Given the description of an element on the screen output the (x, y) to click on. 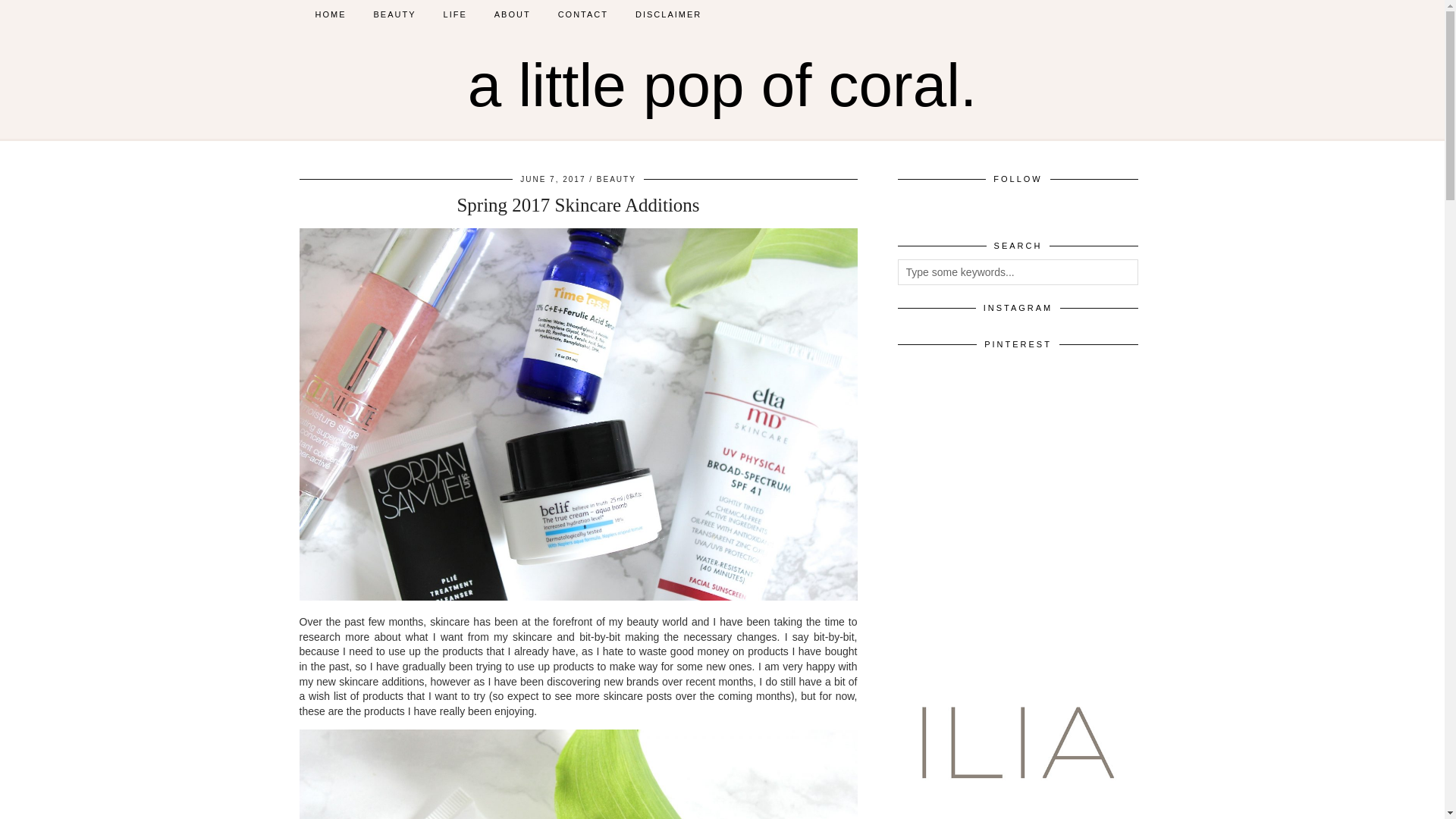
BEAUTY (394, 14)
a little pop of coral. (721, 84)
ABOUT (512, 14)
LIFE (454, 14)
a little pop of coral. (721, 84)
DISCLAIMER (667, 14)
CONTACT (582, 14)
HOME (330, 14)
